Given the description of an element on the screen output the (x, y) to click on. 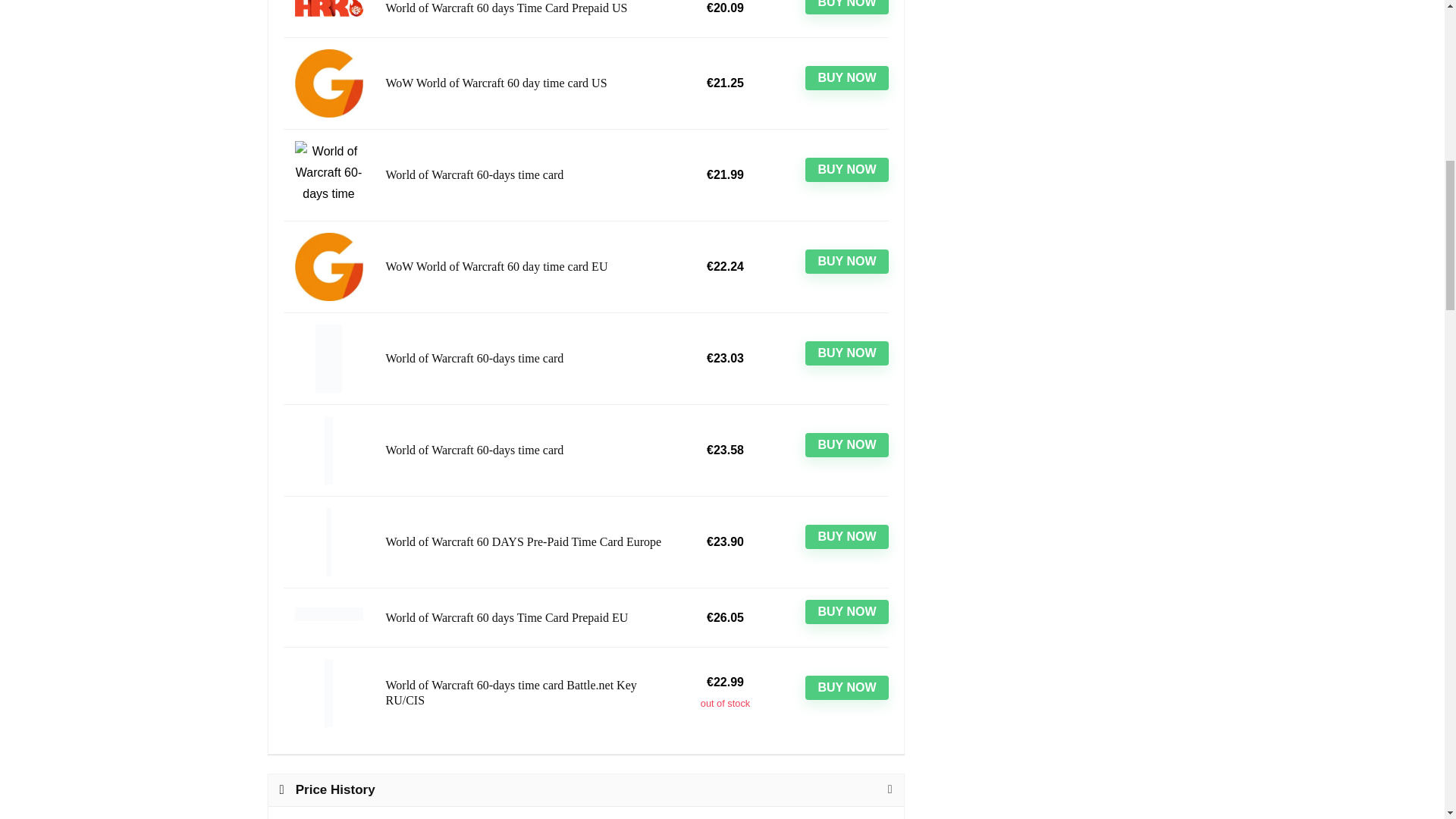
World of Warcraft 60-days time card (524, 174)
WoW World of Warcraft 60 day time card EU (524, 266)
World of Warcraft 60 days Time Card Prepaid US (524, 7)
World of Warcraft 60-days time card (524, 358)
BUY NOW (846, 261)
BUY NOW (846, 78)
WoW World of Warcraft 60 day time card US (524, 83)
BUY NOW (846, 7)
BUY NOW (846, 169)
